Given the description of an element on the screen output the (x, y) to click on. 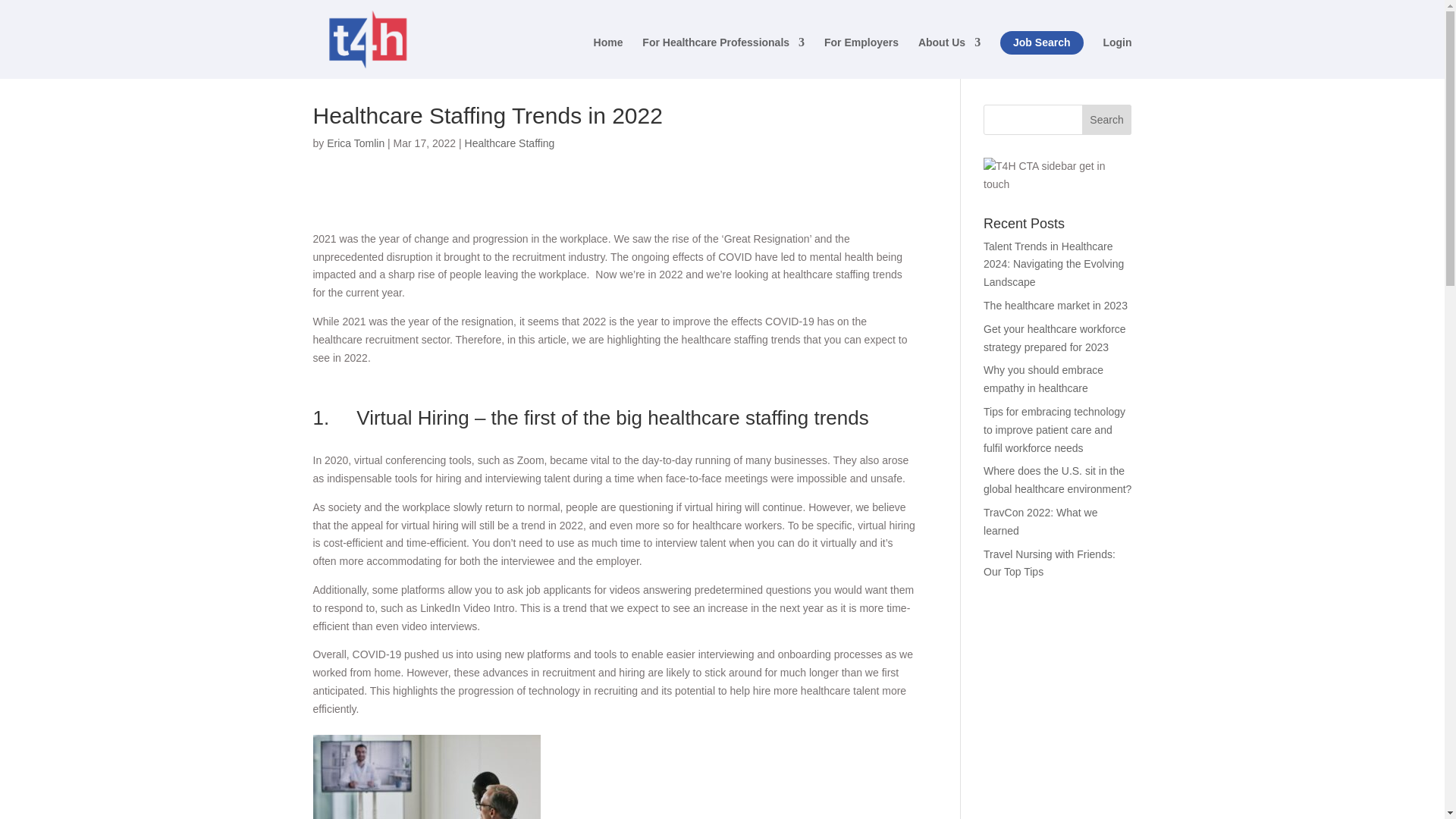
For Healthcare Professionals (723, 57)
For Employers (861, 57)
Search (1106, 119)
Travel Nursing with Friends: Our Top Tips (1049, 562)
Erica Tomlin (355, 143)
Posts by Erica Tomlin (355, 143)
Healthcare Staffing (509, 143)
Search (1106, 119)
Job Search (1041, 42)
